Given the description of an element on the screen output the (x, y) to click on. 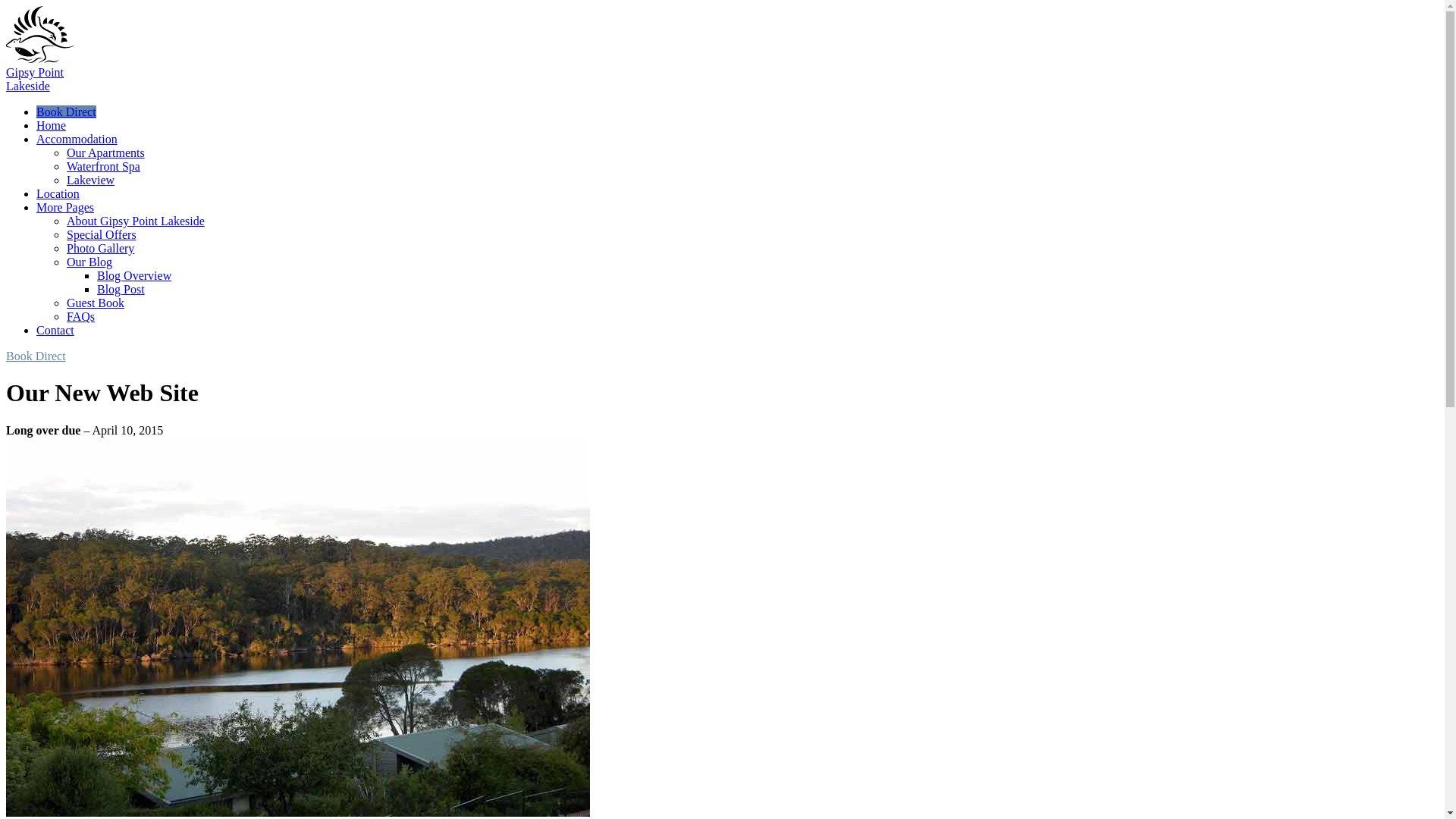
Guest Book (94, 302)
Book Direct (66, 111)
Special Offers (101, 234)
About Gipsy Point Lakeside (135, 220)
Our Blog (89, 261)
More Pages (34, 79)
Contact (65, 206)
Waterfront Spa (55, 329)
Lakeview (102, 165)
